Given the description of an element on the screen output the (x, y) to click on. 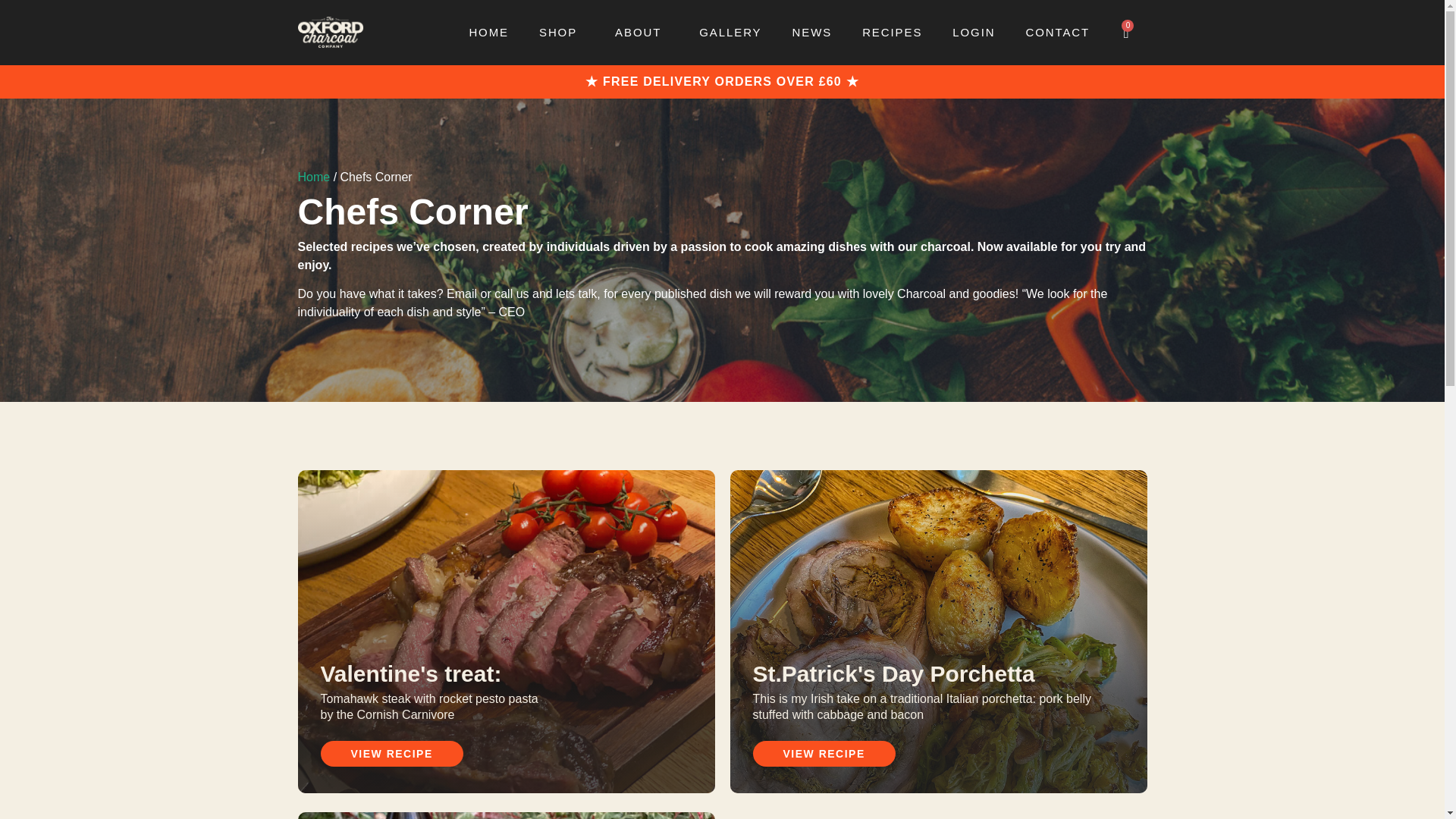
LOGIN (973, 32)
ABOUT (641, 32)
HOME (488, 32)
RECIPES (892, 32)
NEWS (812, 32)
GALLERY (730, 32)
CONTACT (1057, 32)
SHOP (561, 32)
